Given the description of an element on the screen output the (x, y) to click on. 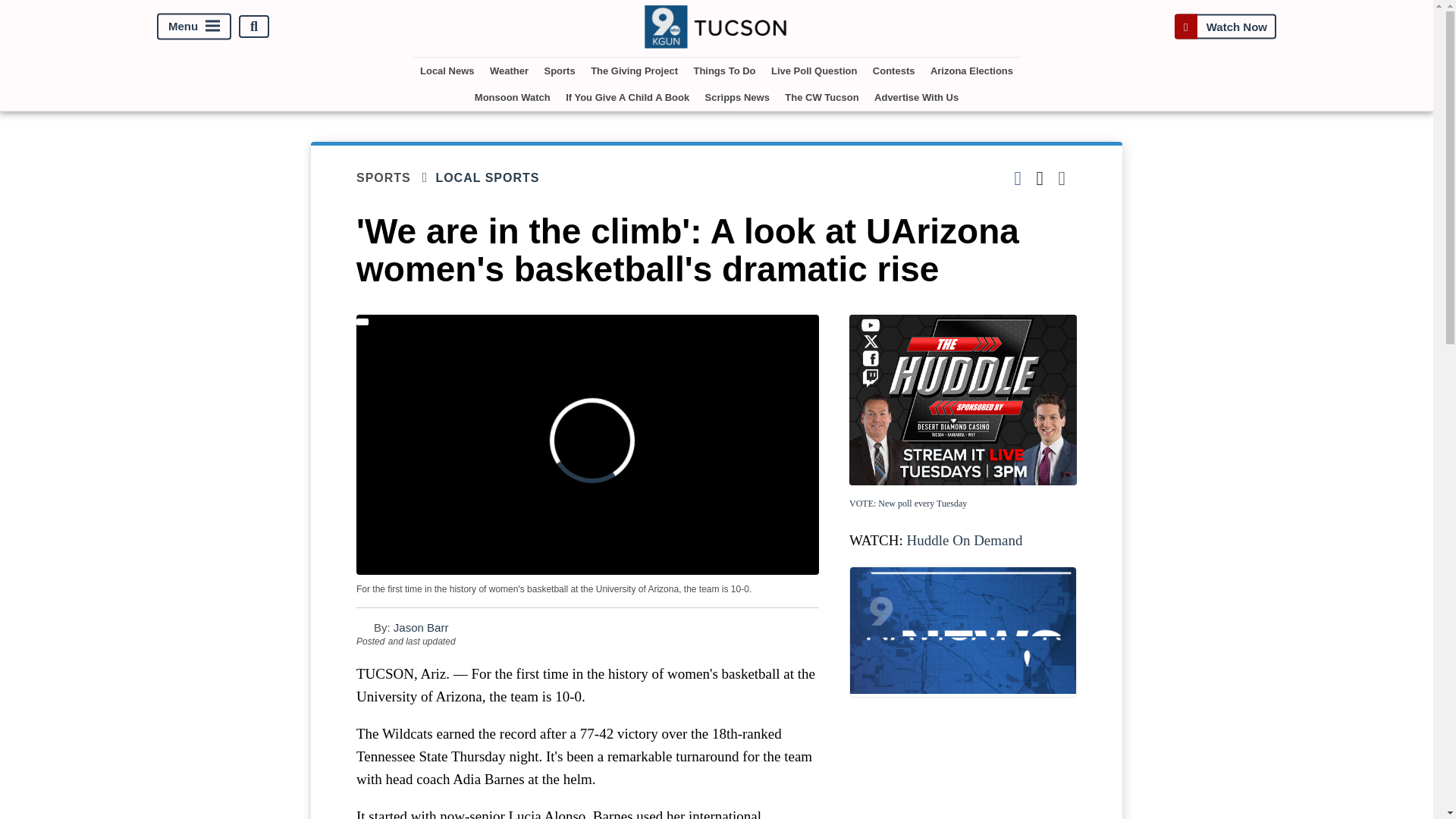
Menu (194, 26)
Watch Now (1224, 26)
